Given the description of an element on the screen output the (x, y) to click on. 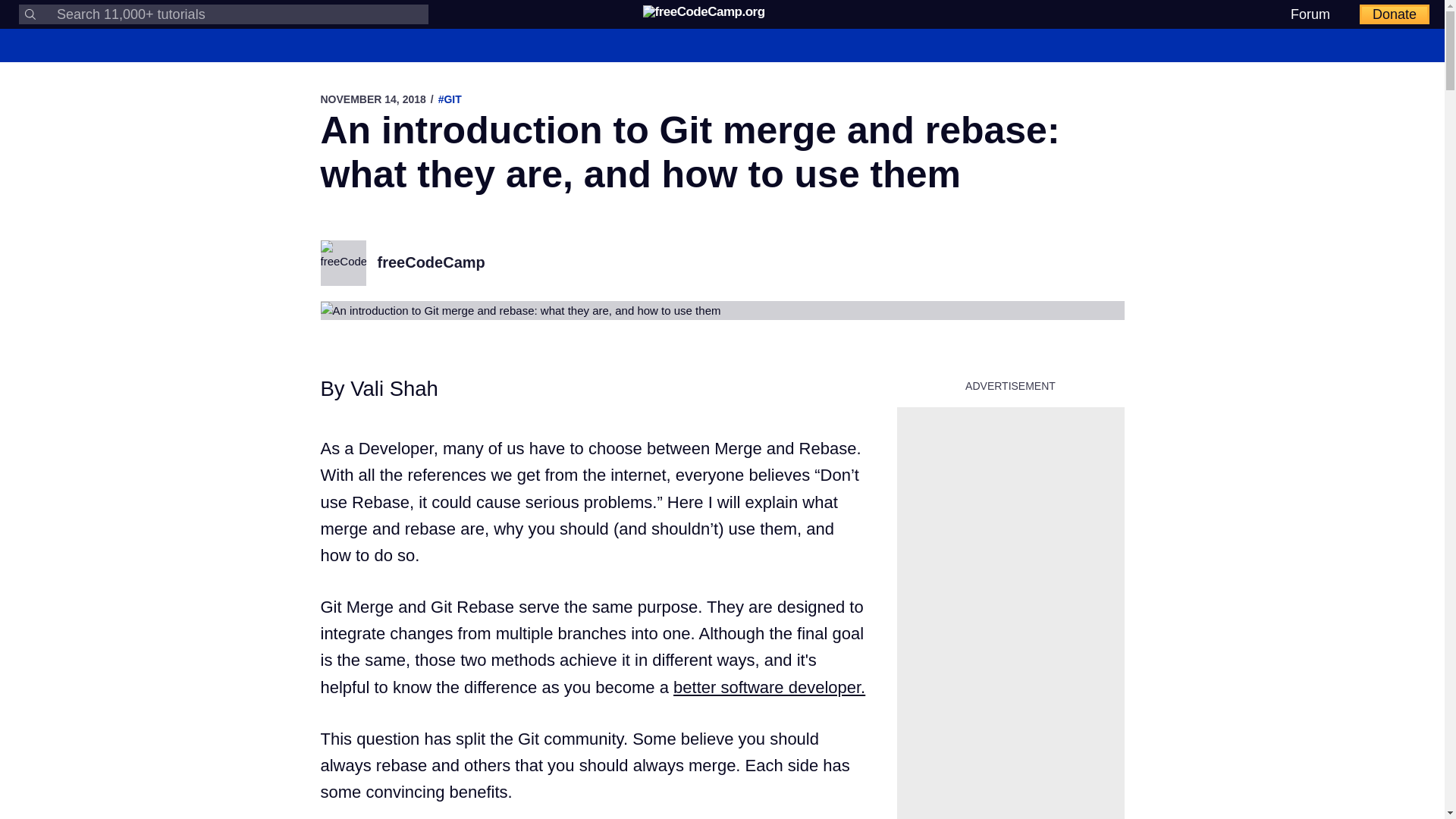
freeCodeCamp (430, 262)
Donate (1394, 14)
Forum (1309, 14)
Submit your search query (30, 14)
better software developer. (768, 687)
